Given the description of an element on the screen output the (x, y) to click on. 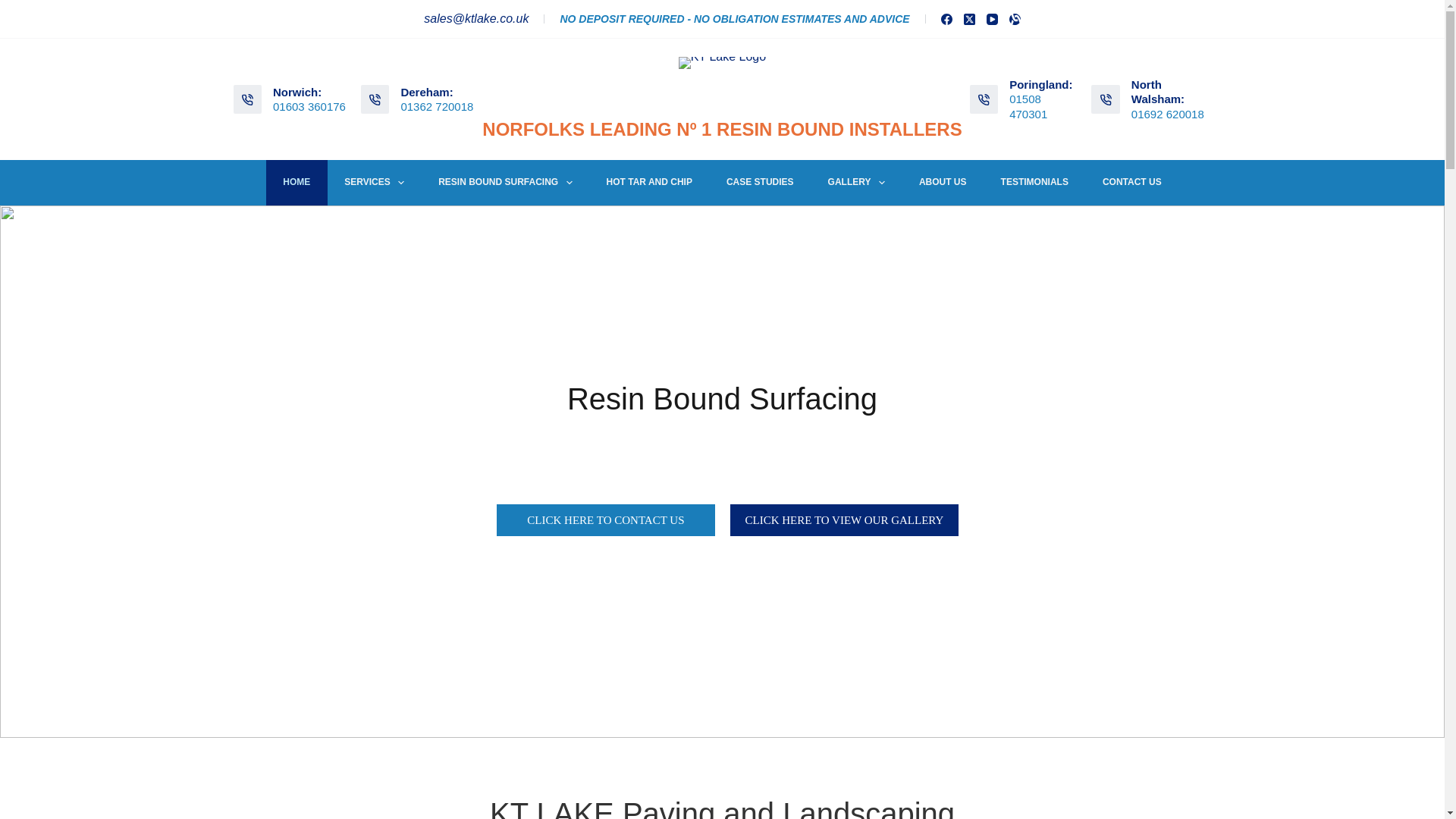
SERVICES (374, 182)
01362 720018 (436, 106)
01603 360176 (309, 106)
01508 470301 (1027, 106)
01692 620018 (1167, 113)
Skip to content (15, 7)
HOME (296, 182)
